Given the description of an element on the screen output the (x, y) to click on. 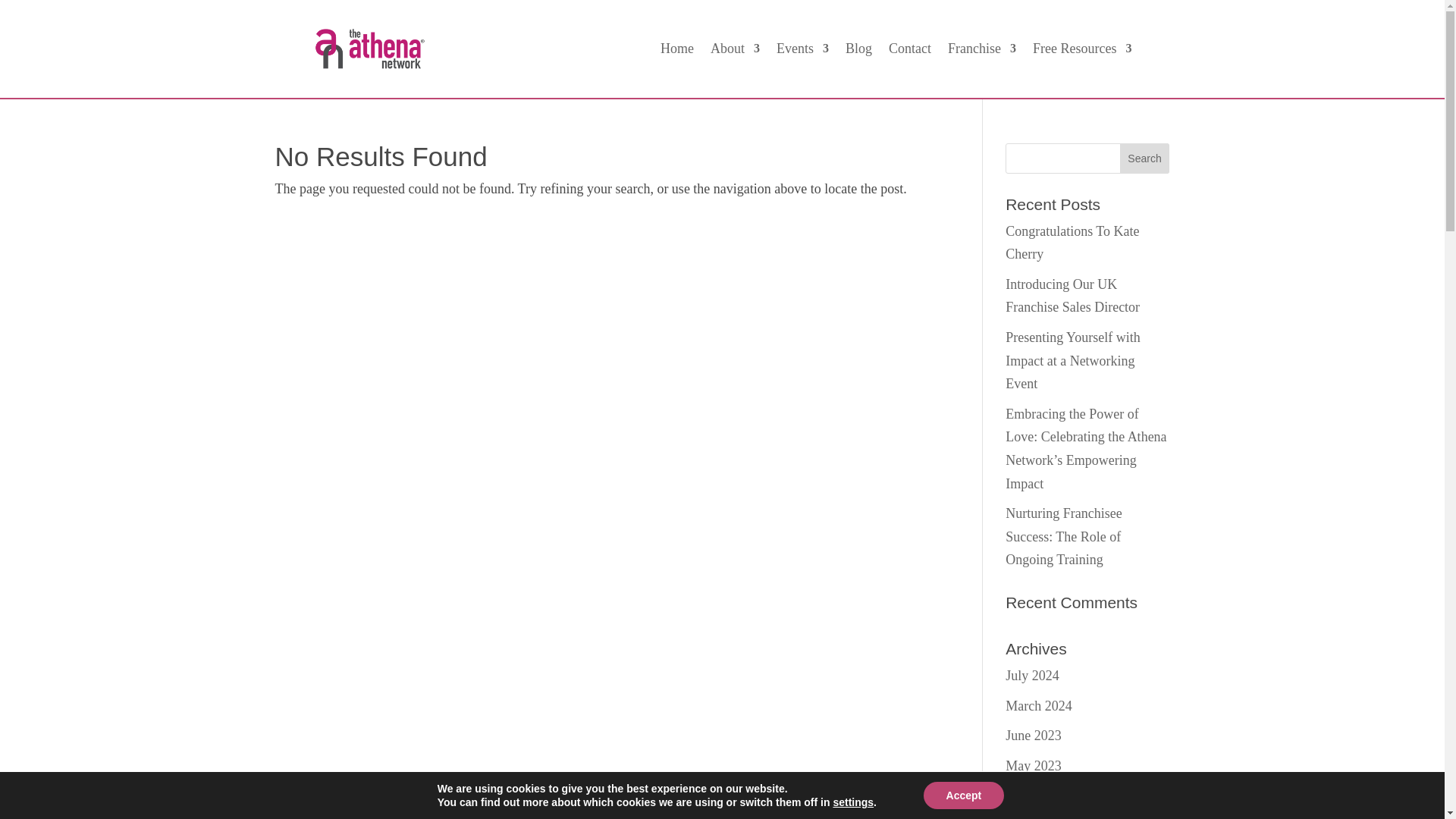
Blog (858, 51)
Search (1144, 158)
Free Resources (1081, 51)
About (735, 51)
Events (802, 51)
Contact (909, 51)
Franchise (981, 51)
Home (677, 51)
Search (1144, 158)
